Given the description of an element on the screen output the (x, y) to click on. 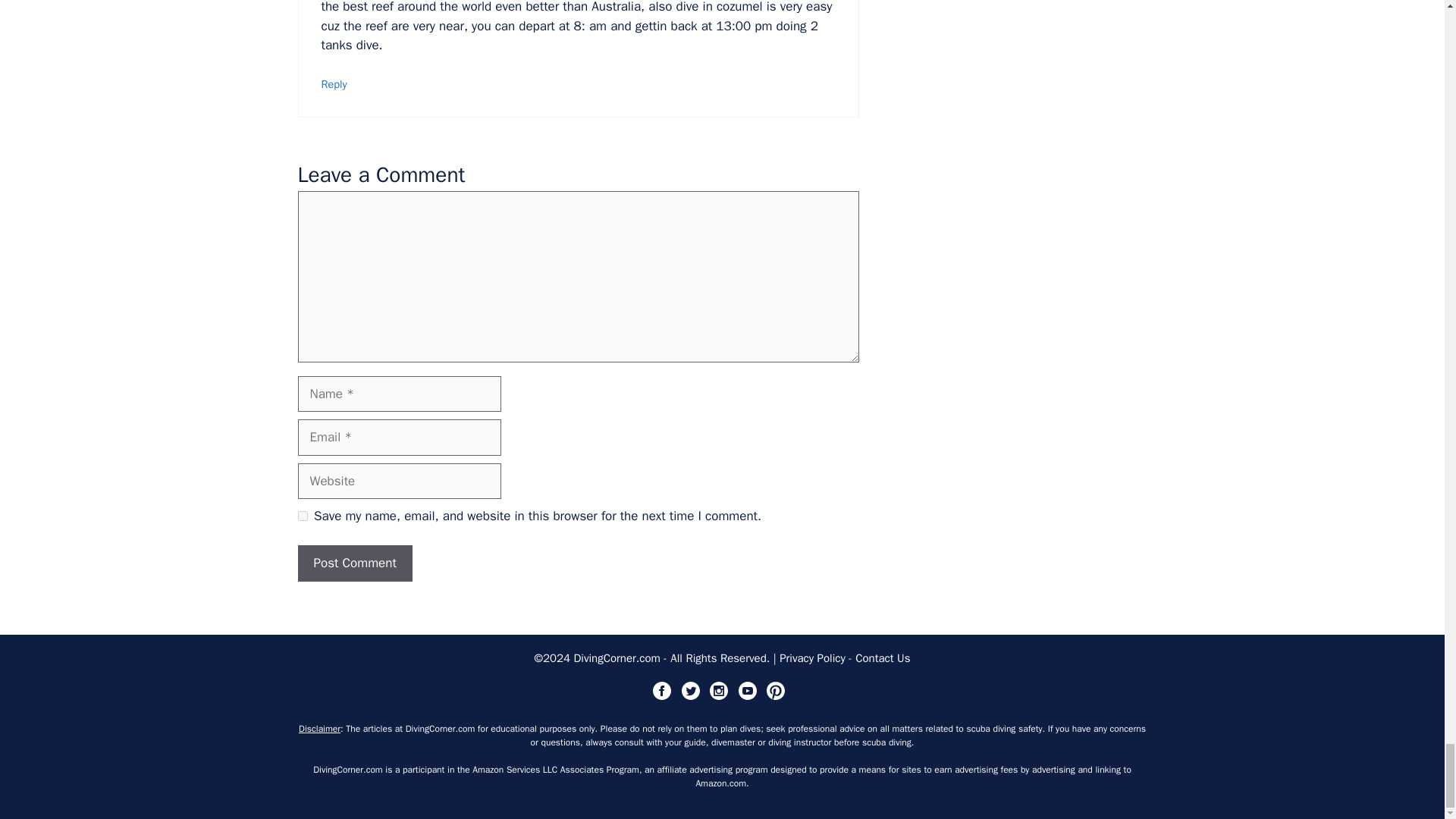
Post Comment (354, 563)
yes (302, 515)
